Given the description of an element on the screen output the (x, y) to click on. 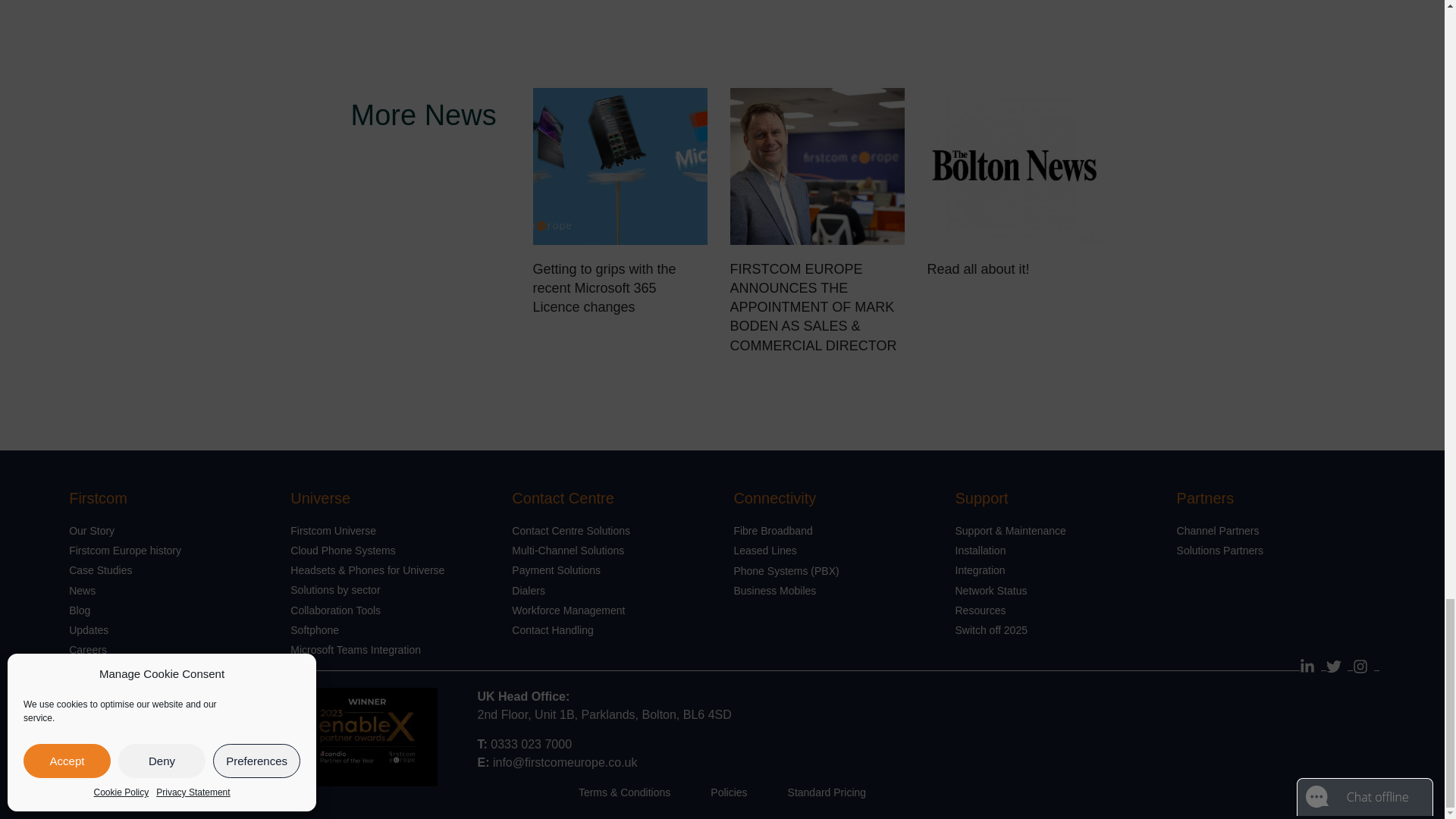
How Firstcom has grown since 2003 (167, 550)
About Firstcom Europe (167, 530)
